Given the description of an element on the screen output the (x, y) to click on. 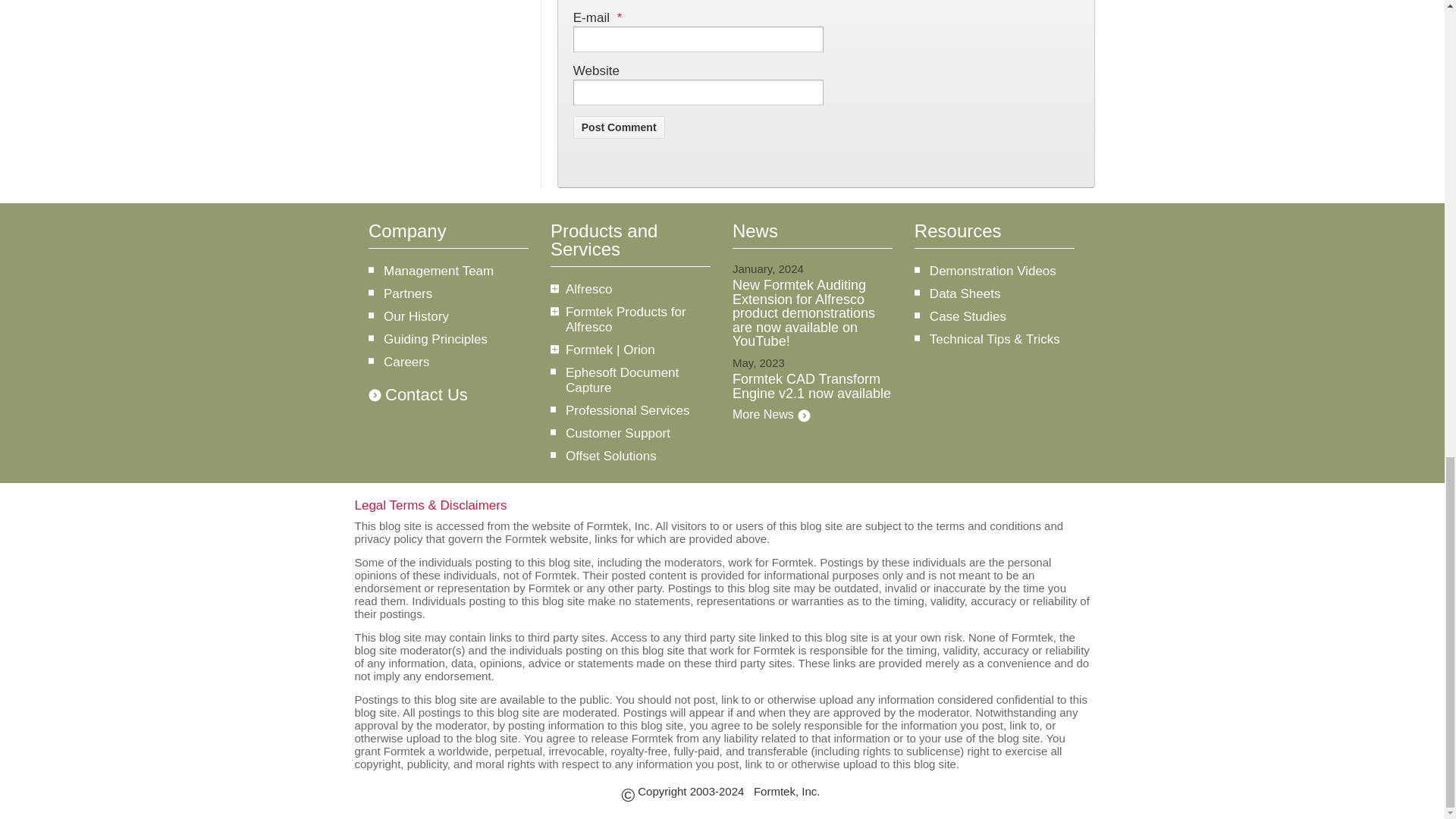
Post Comment (619, 127)
